Given the description of an element on the screen output the (x, y) to click on. 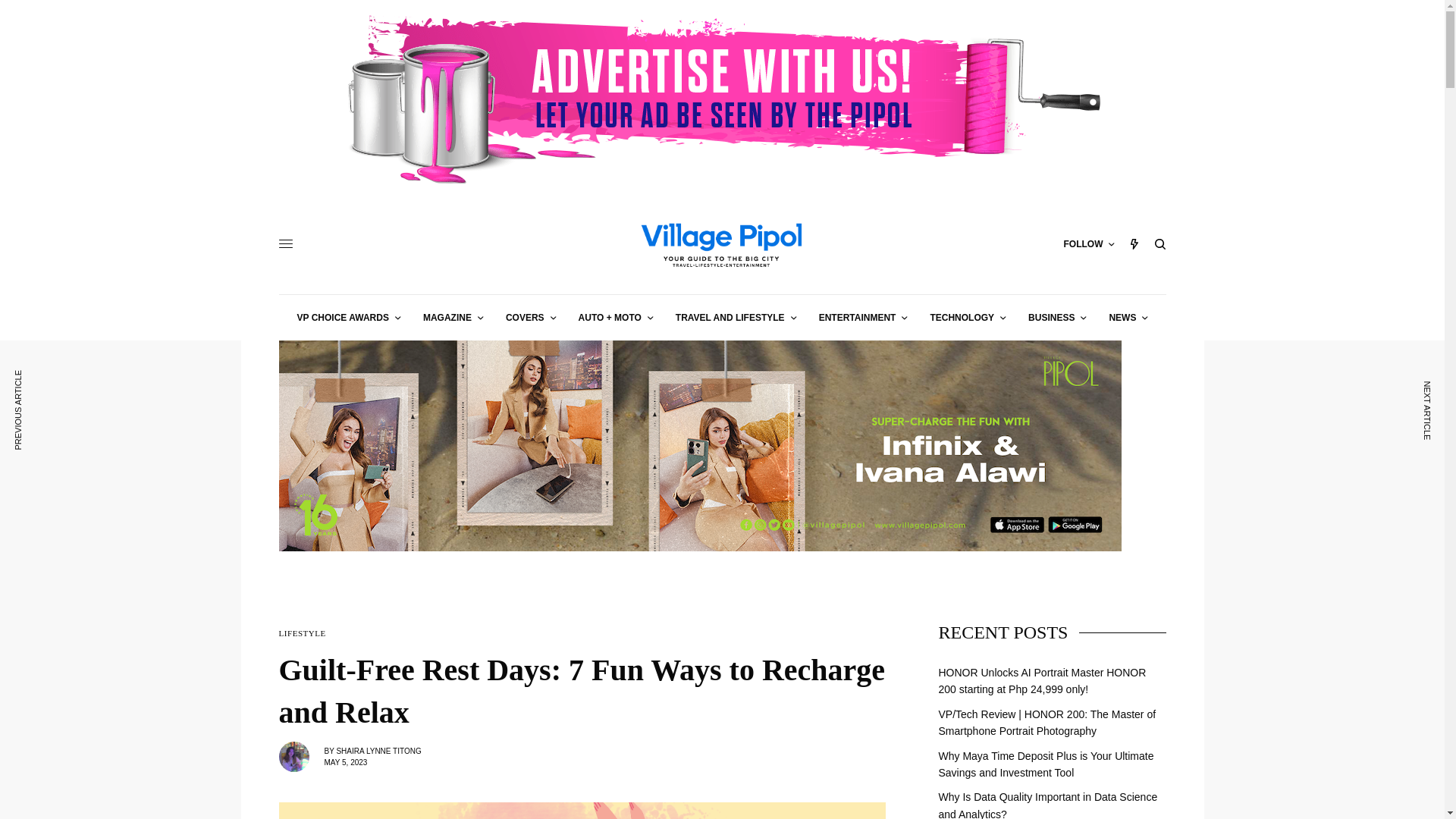
Your Guide to the Big City (720, 244)
FOLLOW (1087, 243)
MAGAZINE (453, 317)
VP CHOICE AWARDS (348, 317)
